Given the description of an element on the screen output the (x, y) to click on. 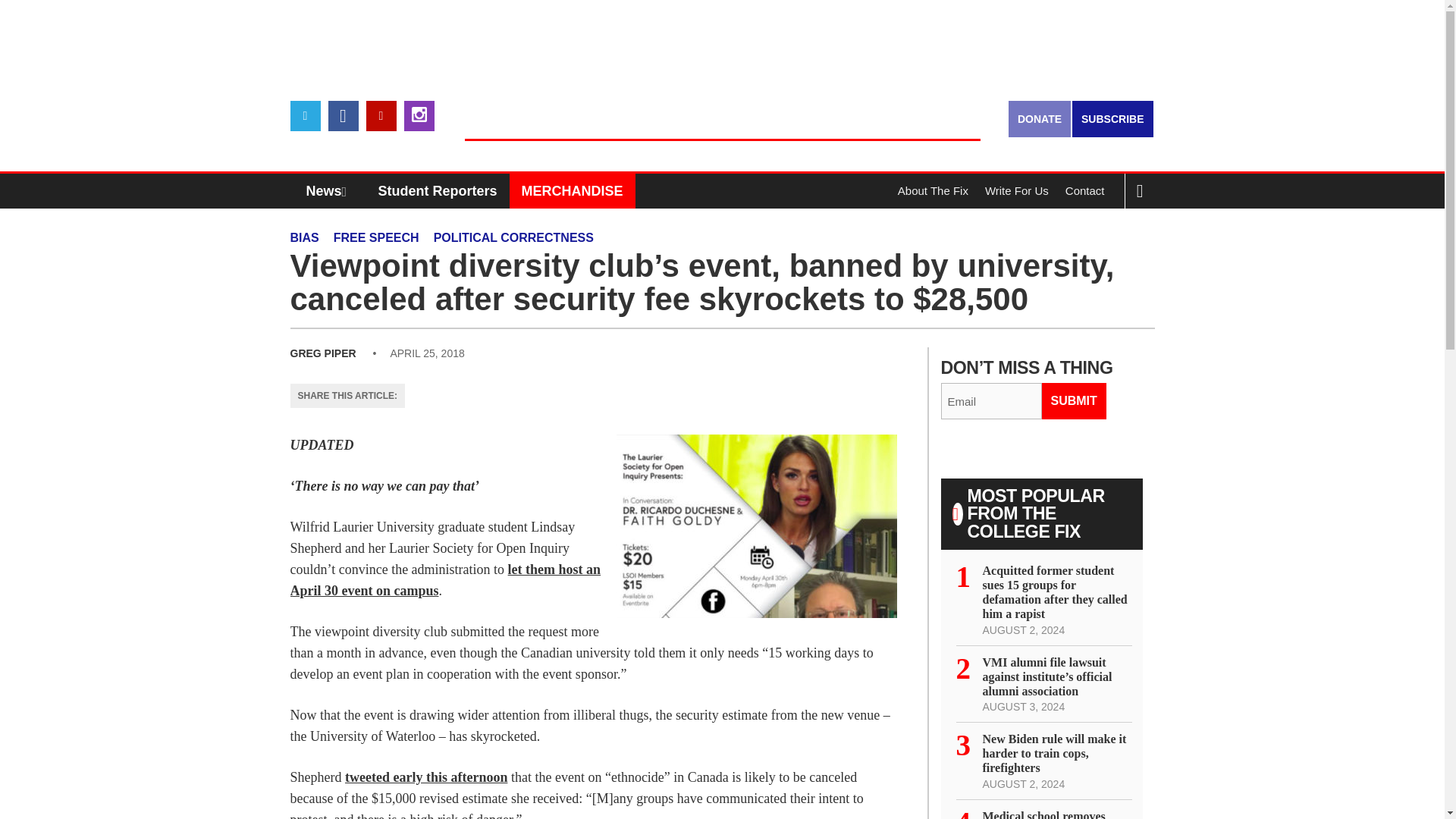
DONATE (1039, 118)
Student Reporters (437, 190)
SUBSCRIBE (1112, 118)
The College Fix (721, 114)
MERCHANDISE (571, 190)
Submit (1074, 401)
News (330, 190)
About The Fix (932, 190)
